Given the description of an element on the screen output the (x, y) to click on. 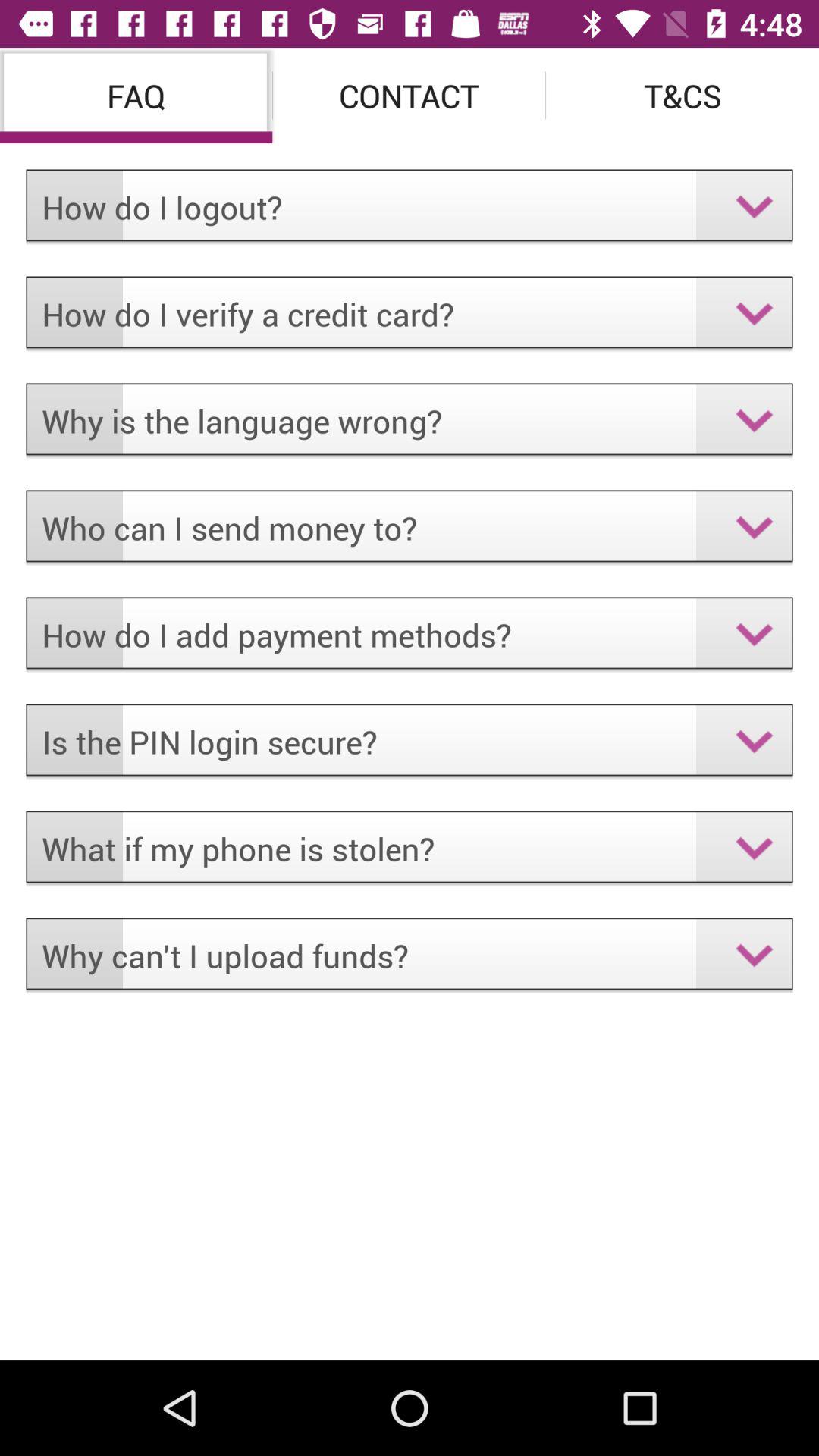
choose the item to the right of the contact (682, 95)
